Given the description of an element on the screen output the (x, y) to click on. 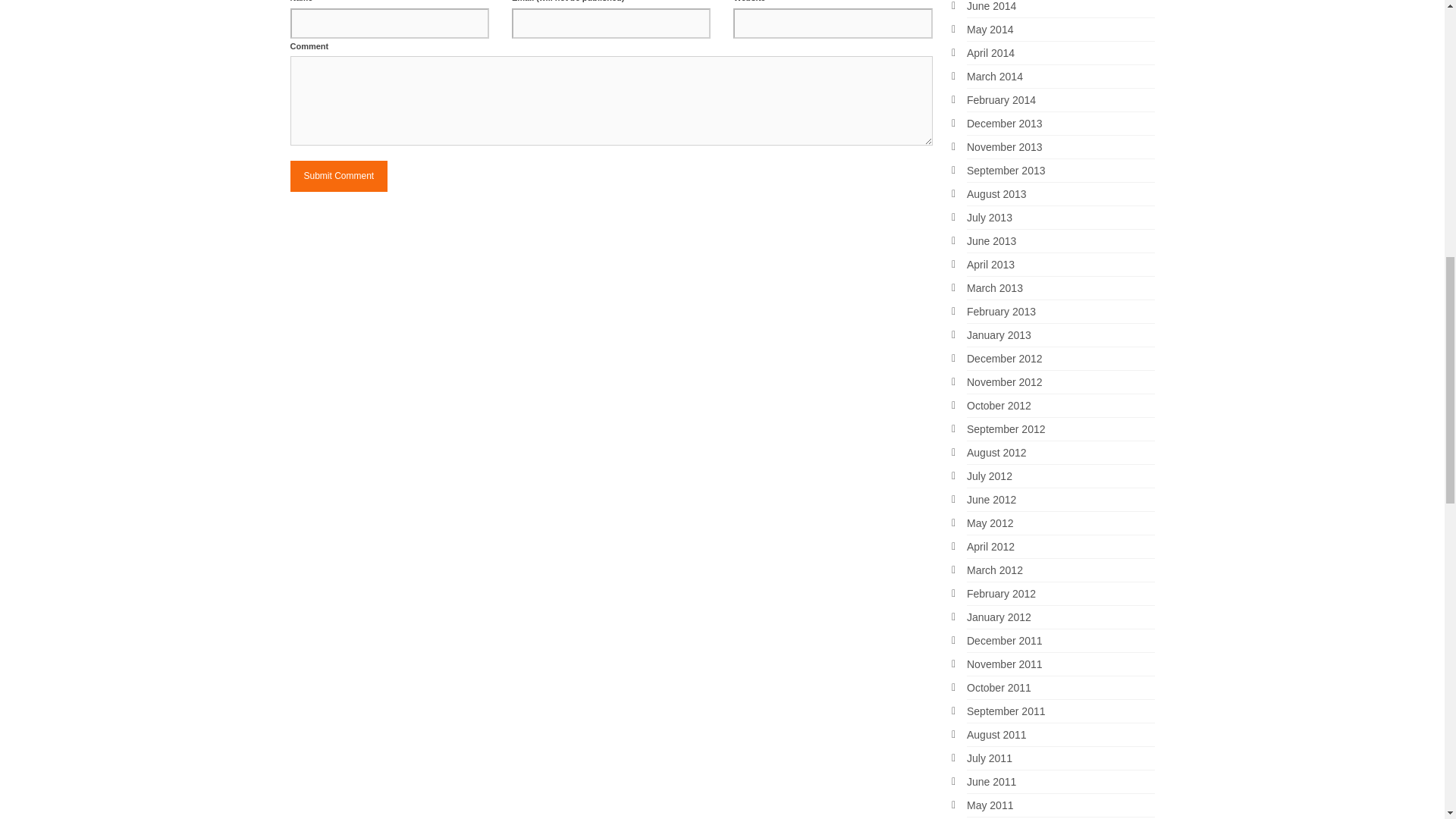
Submit Comment (338, 175)
Submit Comment (338, 175)
